Given the description of an element on the screen output the (x, y) to click on. 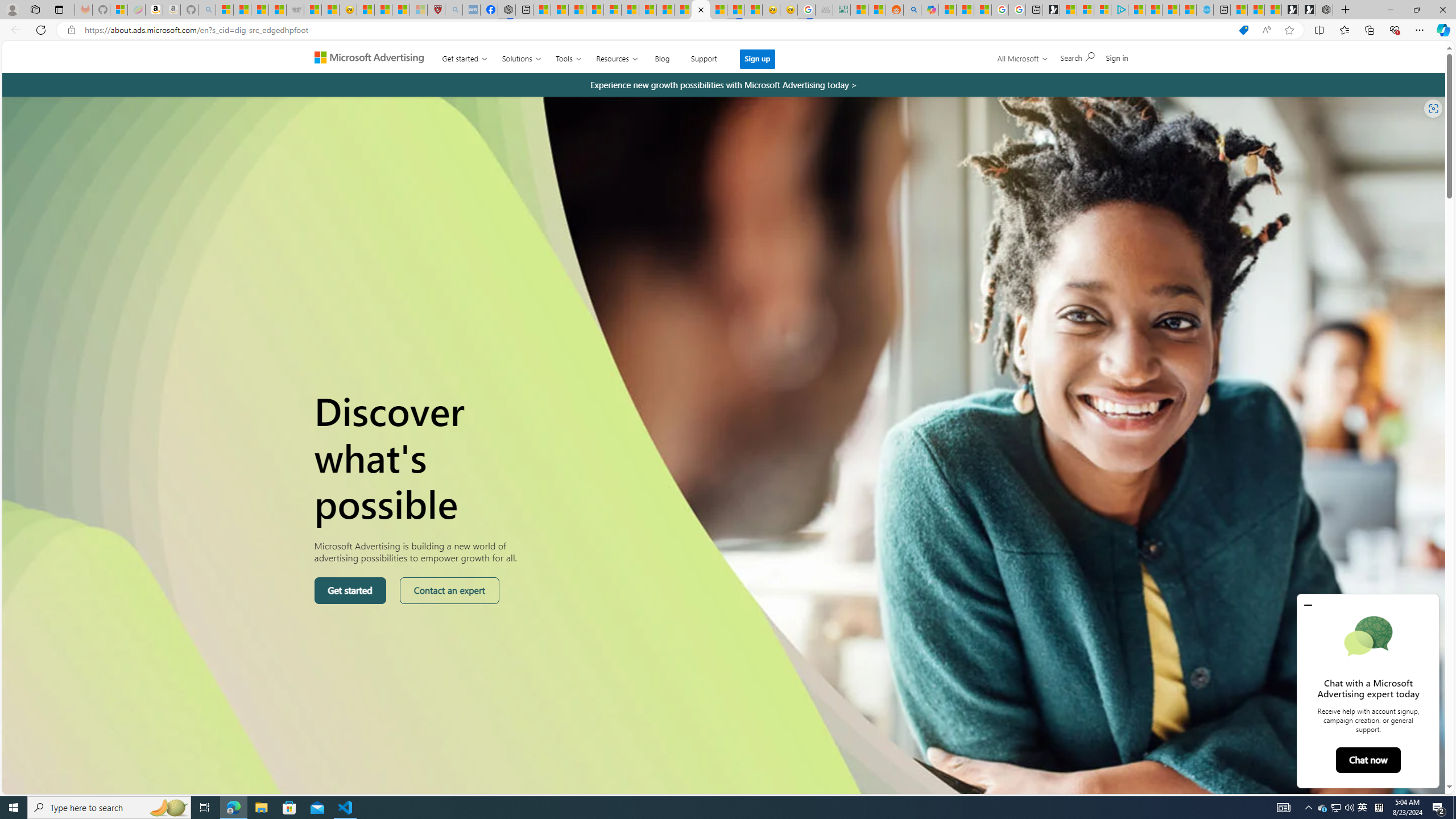
Trusted Community Engagement and Contributions | Guidelines (683, 9)
